Given the description of an element on the screen output the (x, y) to click on. 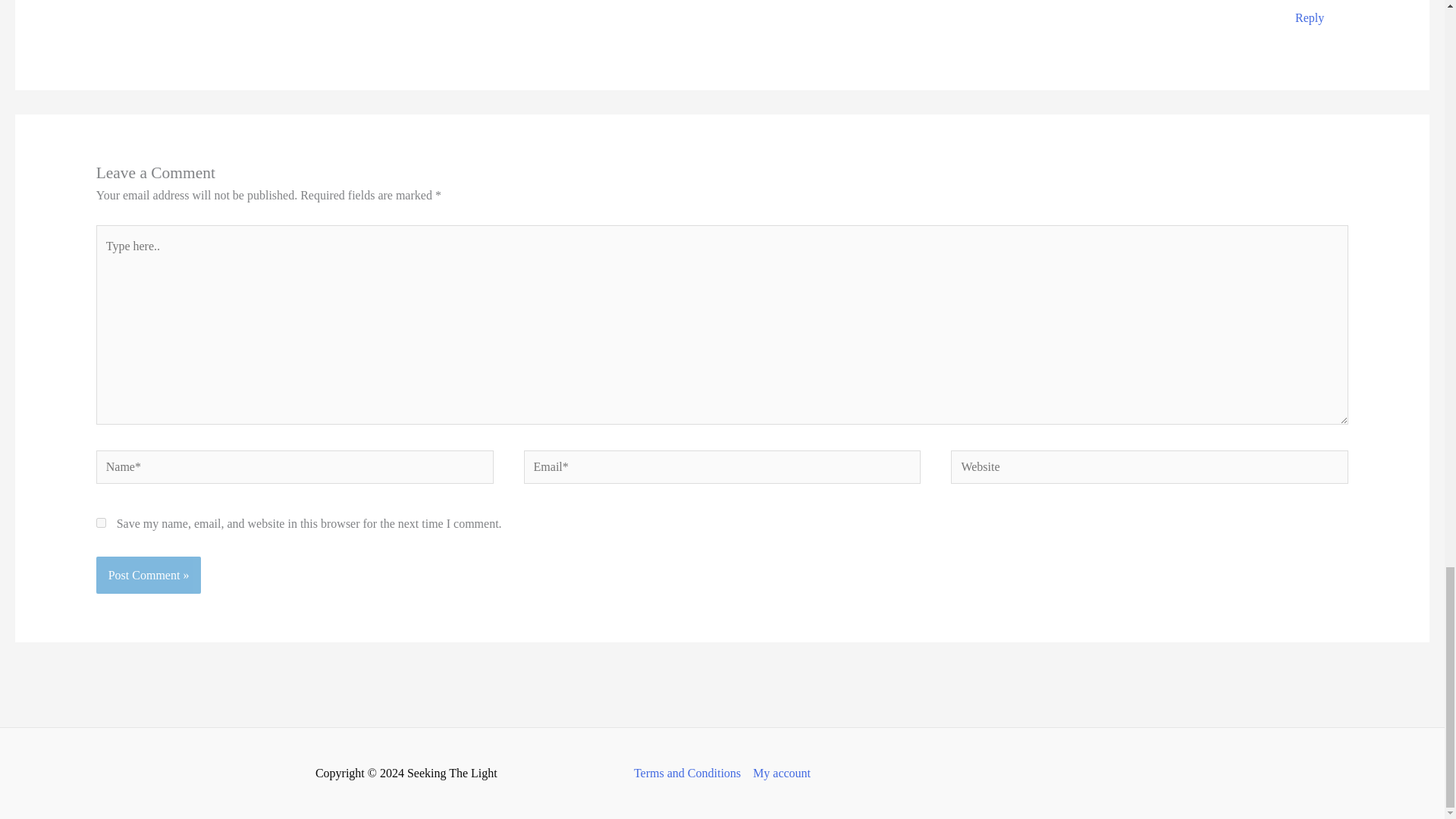
yes (101, 522)
Terms and Conditions (689, 773)
My account (778, 773)
Reply (1309, 17)
